Given the description of an element on the screen output the (x, y) to click on. 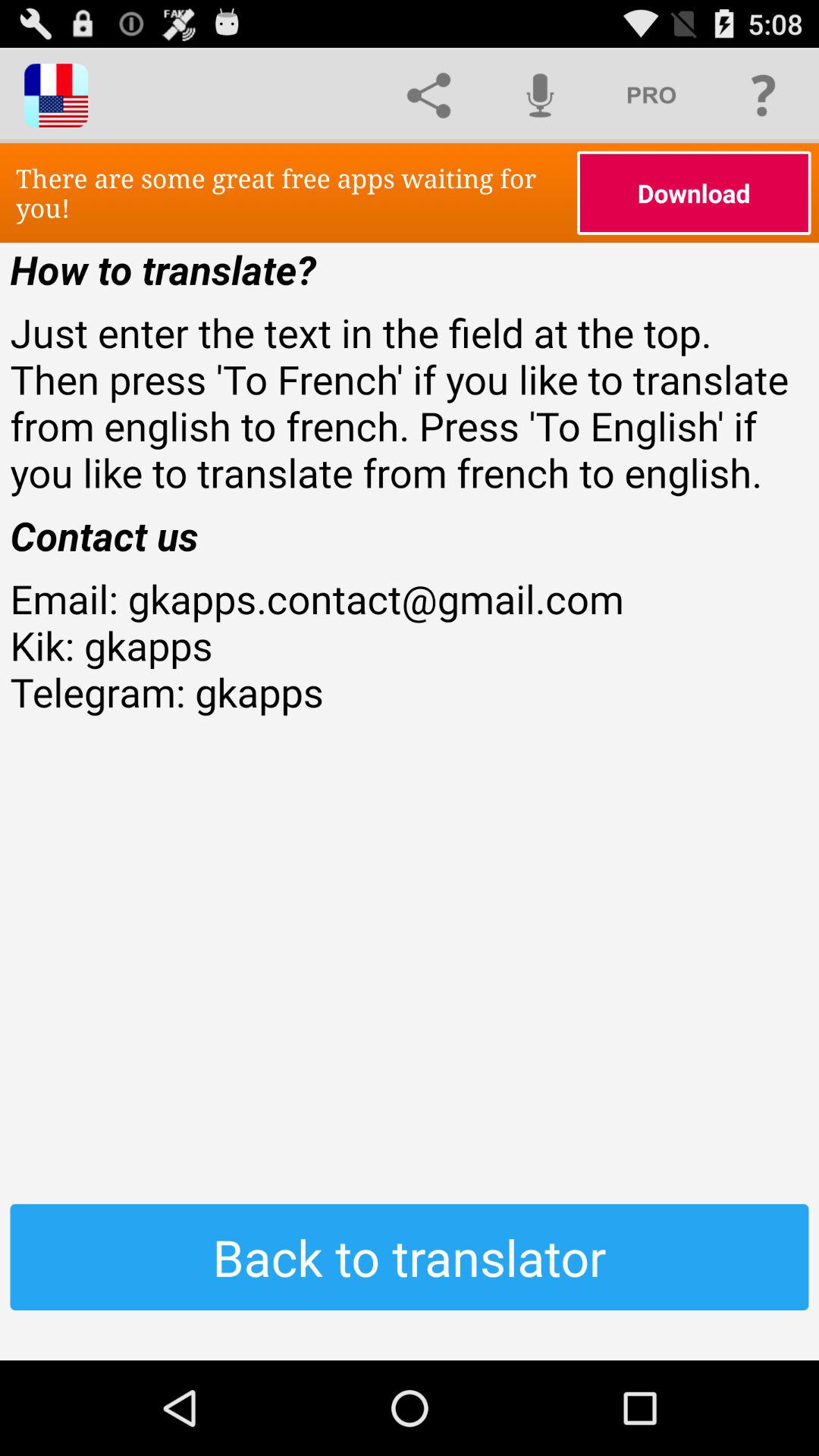
swipe until the download icon (694, 192)
